Given the description of an element on the screen output the (x, y) to click on. 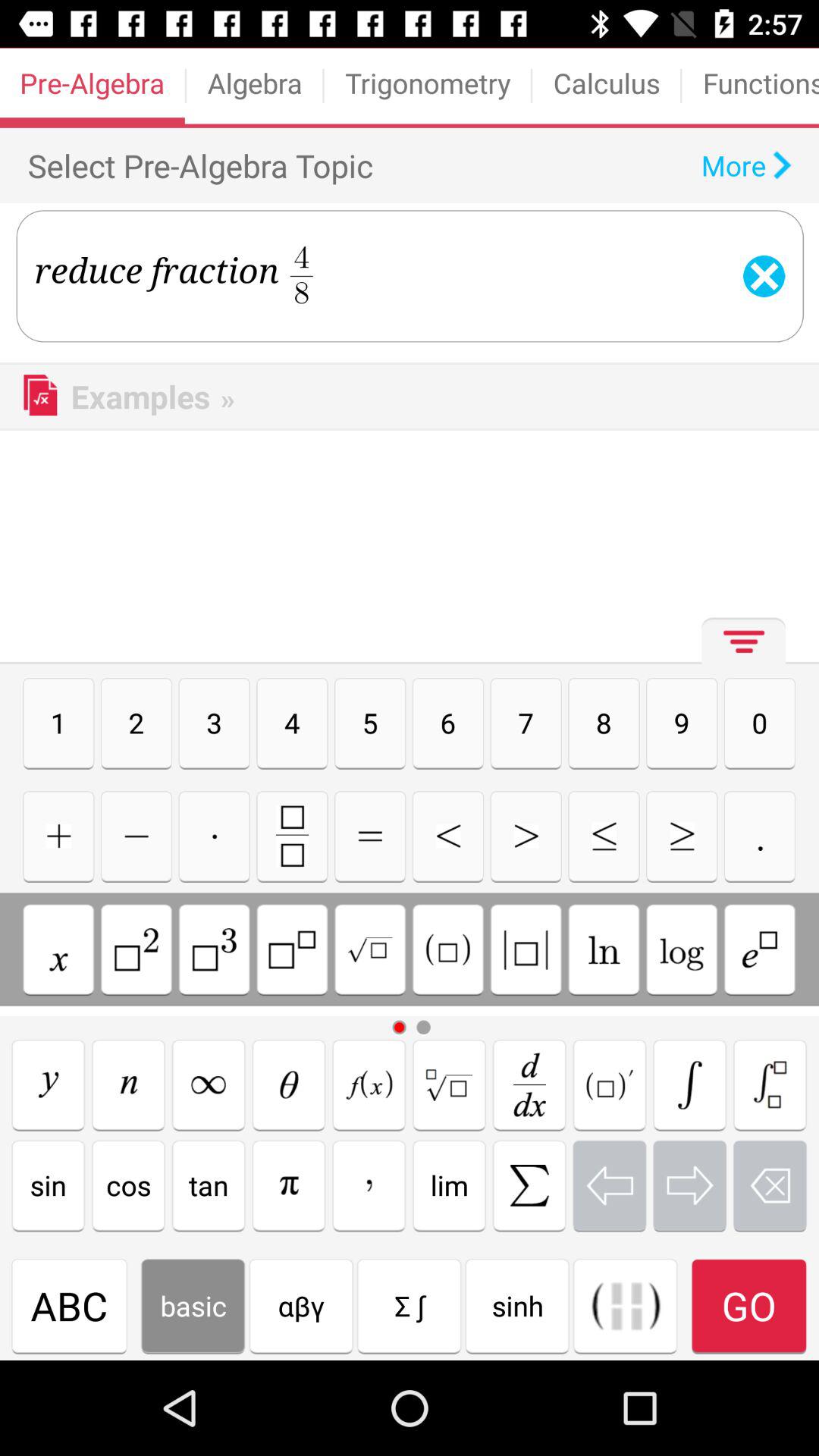
add exponent (136, 949)
